Given the description of an element on the screen output the (x, y) to click on. 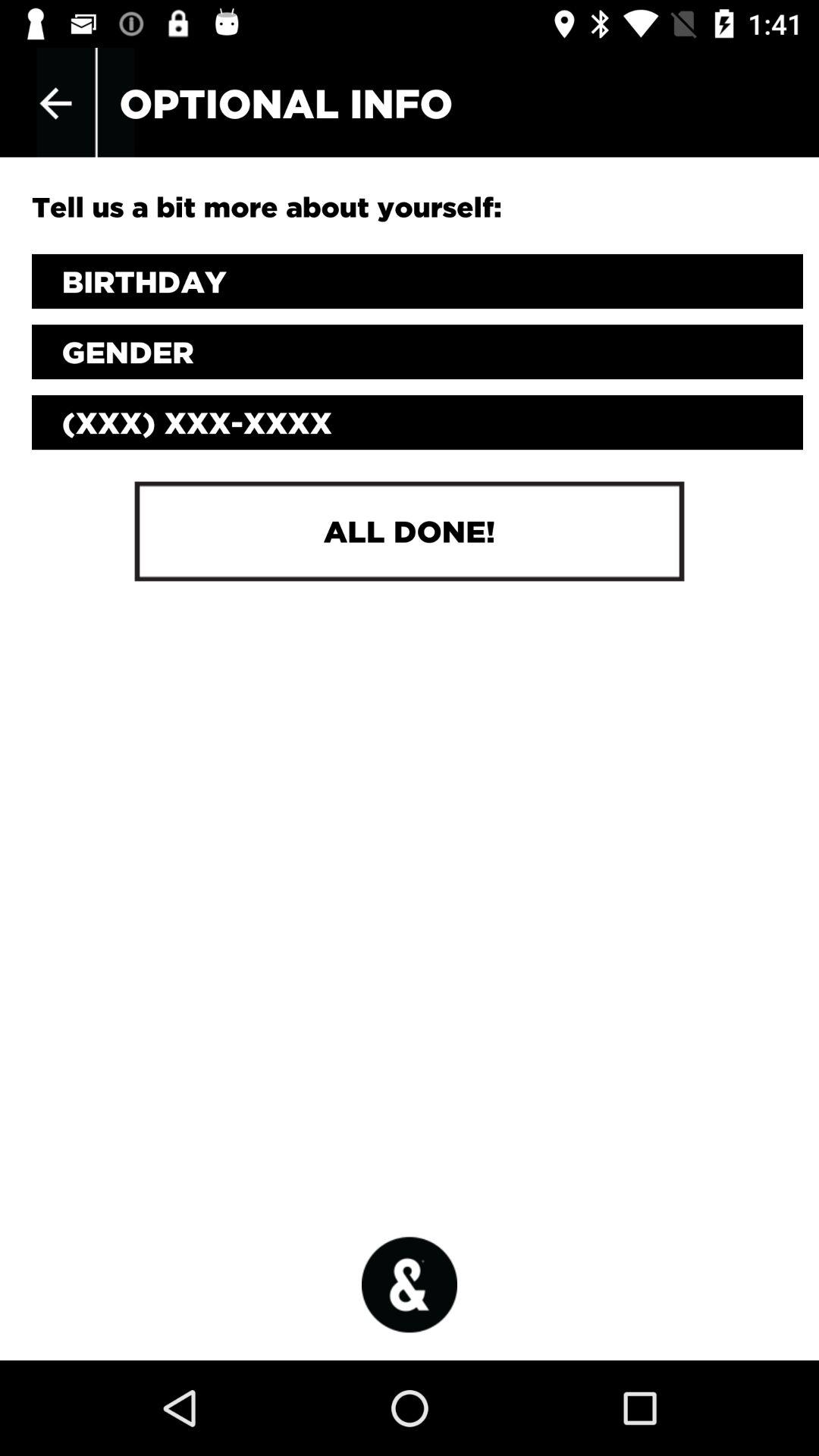
enter your info (417, 281)
